Given the description of an element on the screen output the (x, y) to click on. 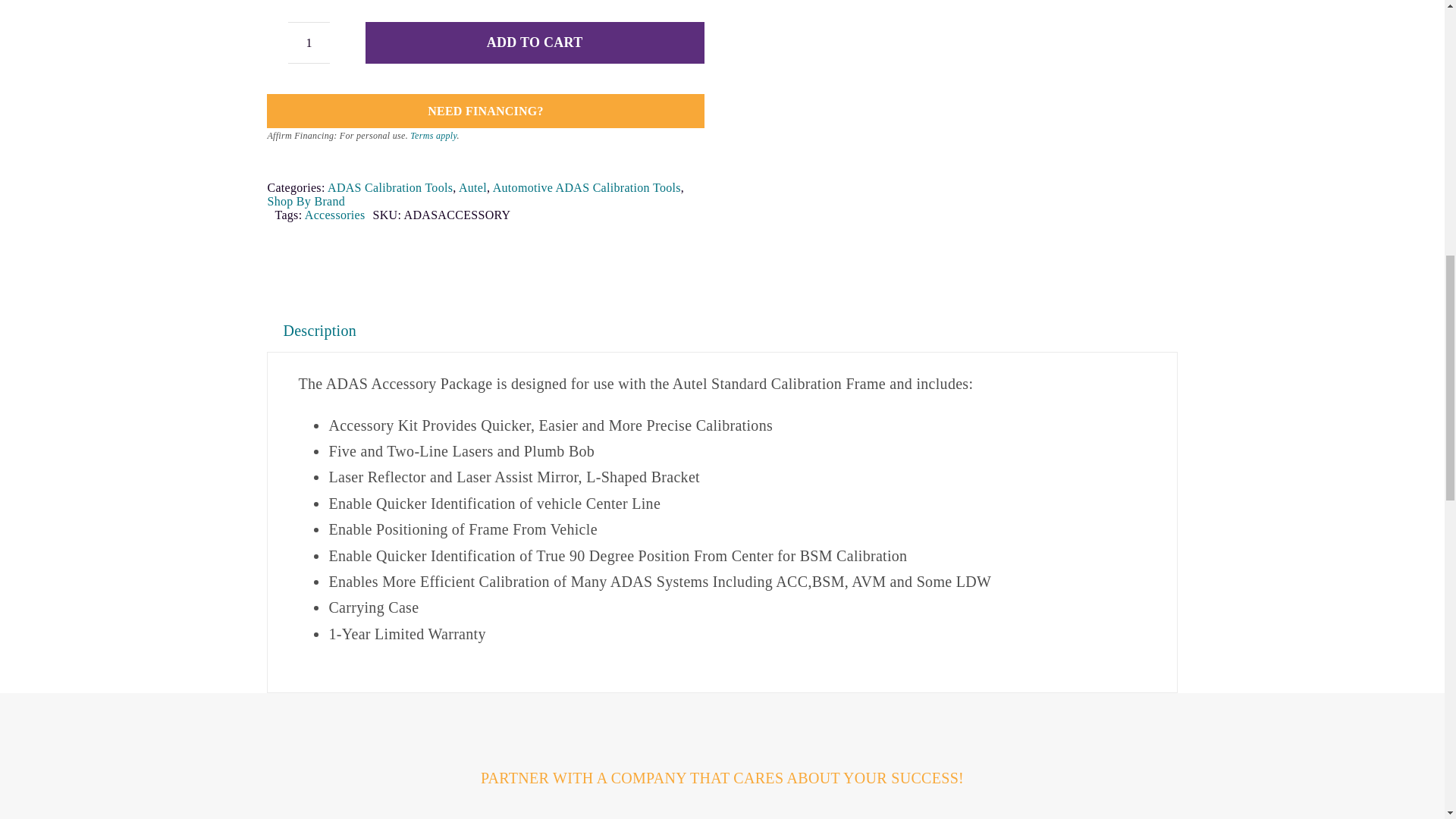
1 (309, 42)
